Given the description of an element on the screen output the (x, y) to click on. 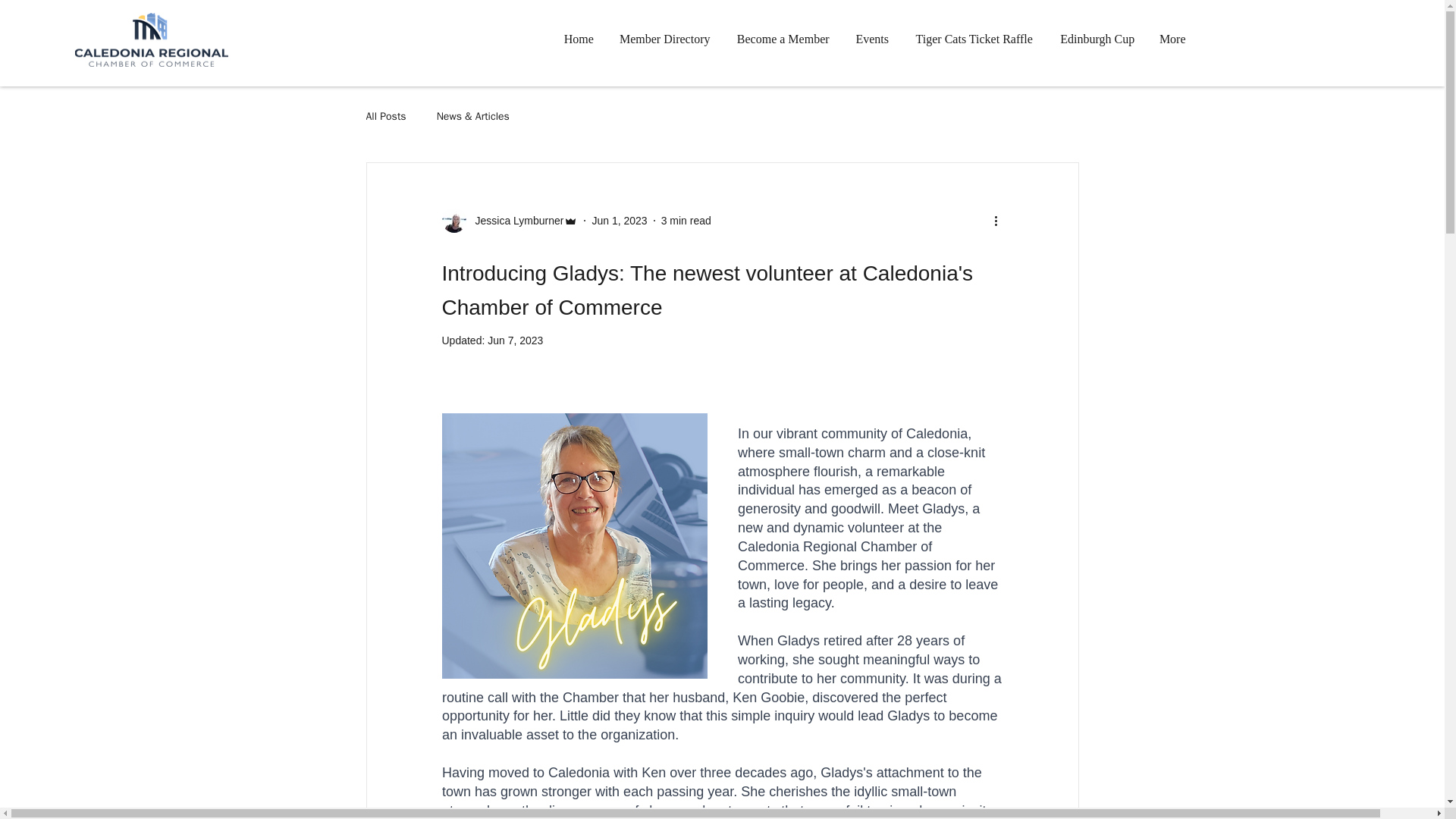
Home (579, 39)
Jessica Lymburner (514, 220)
Tiger Cats Ticket Raffle (973, 39)
Edinburgh Cup (1097, 39)
Jun 7, 2023 (515, 340)
All Posts (385, 116)
Member Directory (665, 39)
3 min read (686, 219)
Jun 1, 2023 (618, 219)
Become a Member (783, 39)
